Given the description of an element on the screen output the (x, y) to click on. 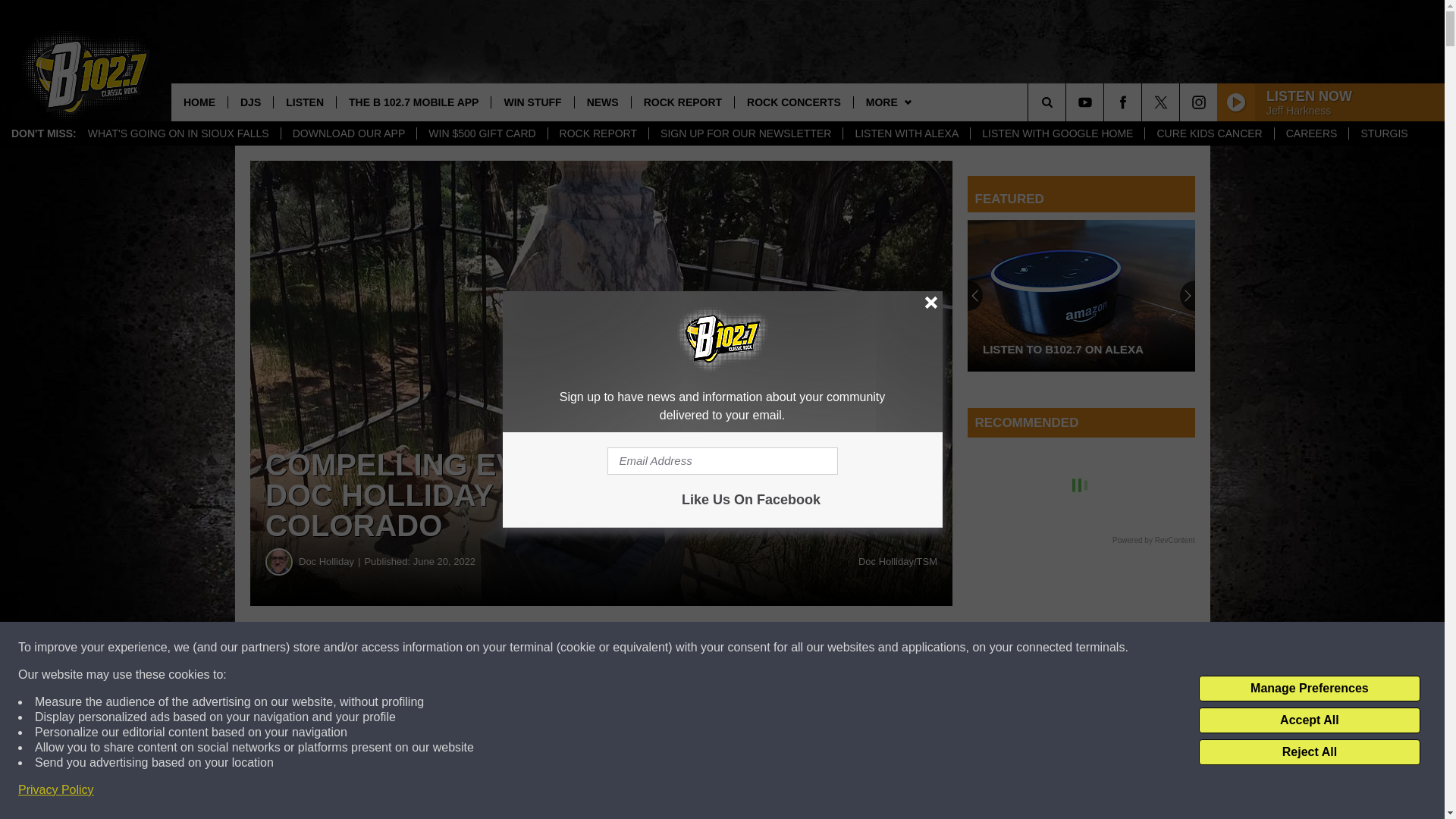
CURE KIDS CANCER (1208, 133)
Share on Twitter (741, 647)
CAREERS (1311, 133)
LISTEN WITH ALEXA (906, 133)
Share on Facebook (460, 647)
THE B 102.7 MOBILE APP (413, 102)
Manage Preferences (1309, 688)
HOME (199, 102)
LISTEN (304, 102)
LISTEN WITH GOOGLE HOME (1056, 133)
STURGIS (1383, 133)
ROCK REPORT (597, 133)
Reject All (1309, 751)
WHAT'S GOING ON IN SIOUX FALLS (179, 133)
DJS (250, 102)
